Given the description of an element on the screen output the (x, y) to click on. 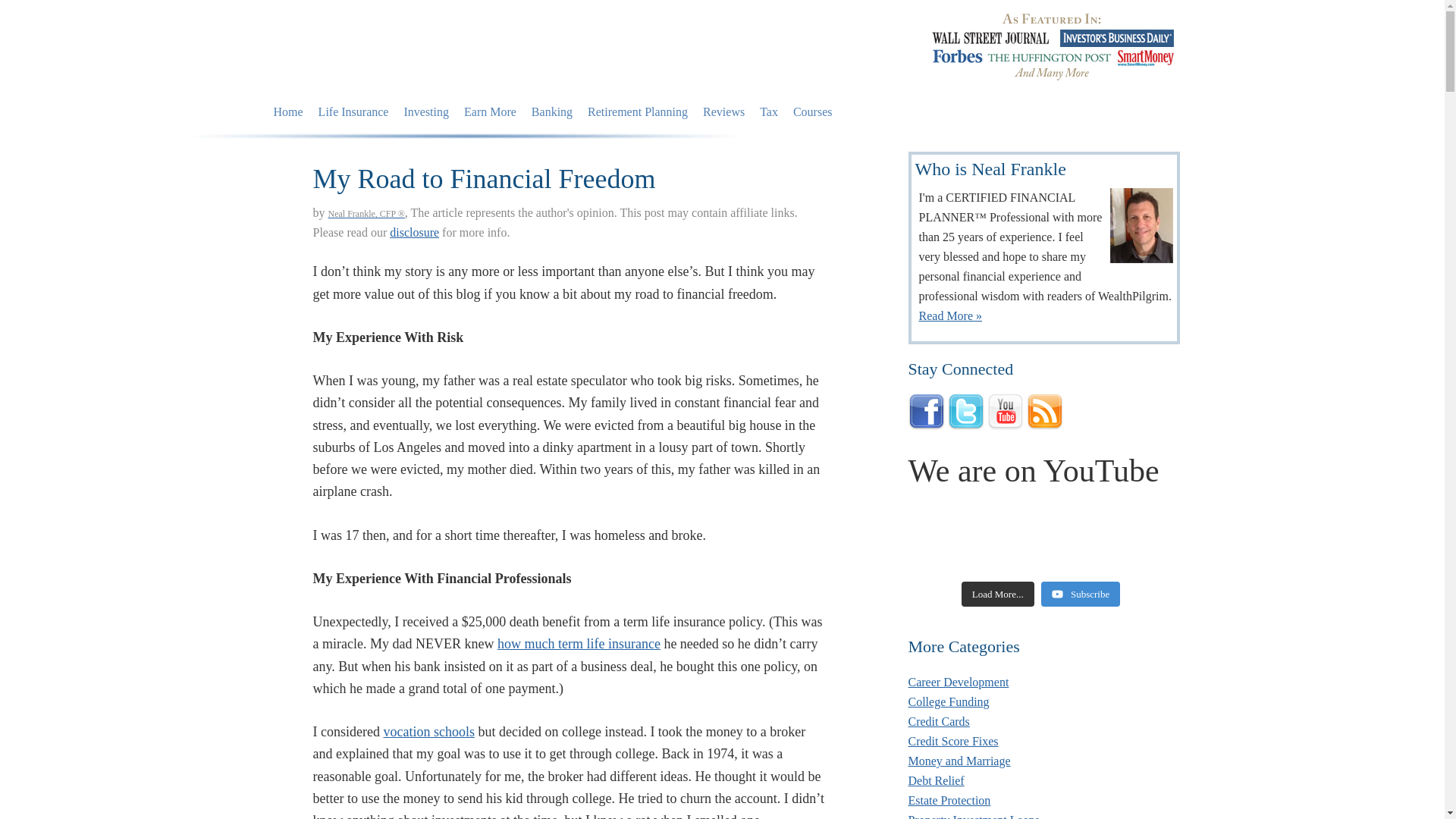
Reviews (724, 112)
Home (287, 112)
Courses (812, 112)
Retirement Planning (637, 112)
Wealth Pilgrim (405, 48)
vocation schools (428, 731)
how much term life insurance (579, 643)
Life Insurance (353, 112)
Banking (551, 112)
